Given the description of an element on the screen output the (x, y) to click on. 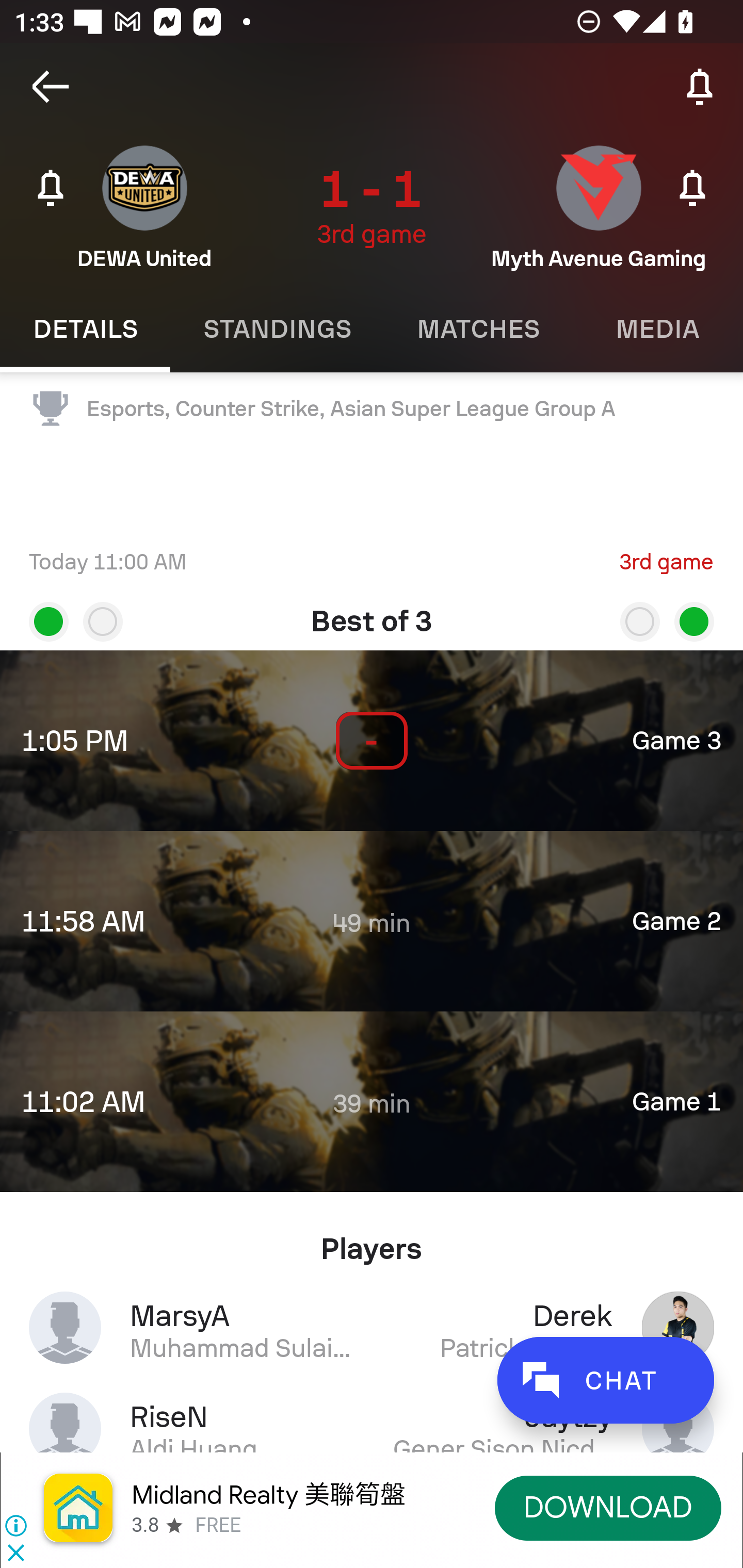
Navigate up (50, 86)
Standings STANDINGS (277, 329)
Matches MATCHES (478, 329)
Media MEDIA (657, 329)
Best of 3 (371, 614)
1:05 PM - Game 3 (371, 740)
11:58 AM 49 min Game 2 (371, 921)
11:02 AM 39 min Game 1 (371, 1101)
Players (371, 1240)
CHAT (605, 1380)
DOWNLOAD (607, 1507)
Midland Realty 美聯筍盤 (268, 1494)
